Given the description of an element on the screen output the (x, y) to click on. 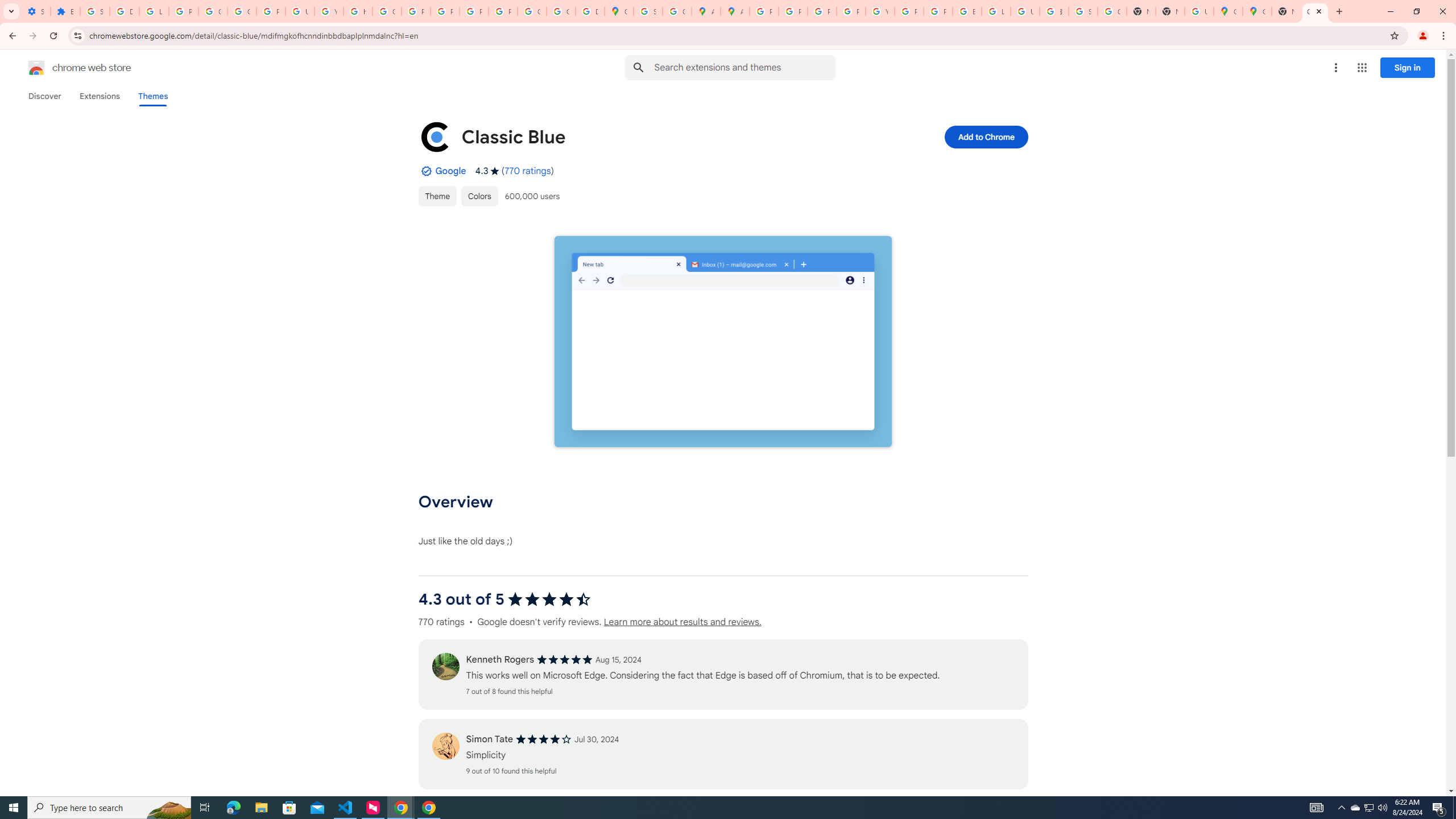
Sign in - Google Accounts (1082, 11)
YouTube (879, 11)
Themes (152, 95)
Privacy Help Center - Policies Help (792, 11)
New Tab (1286, 11)
Privacy Help Center - Policies Help (415, 11)
Classic Blue - Chrome Web Store (1315, 11)
Create your Google Account (677, 11)
